Given the description of an element on the screen output the (x, y) to click on. 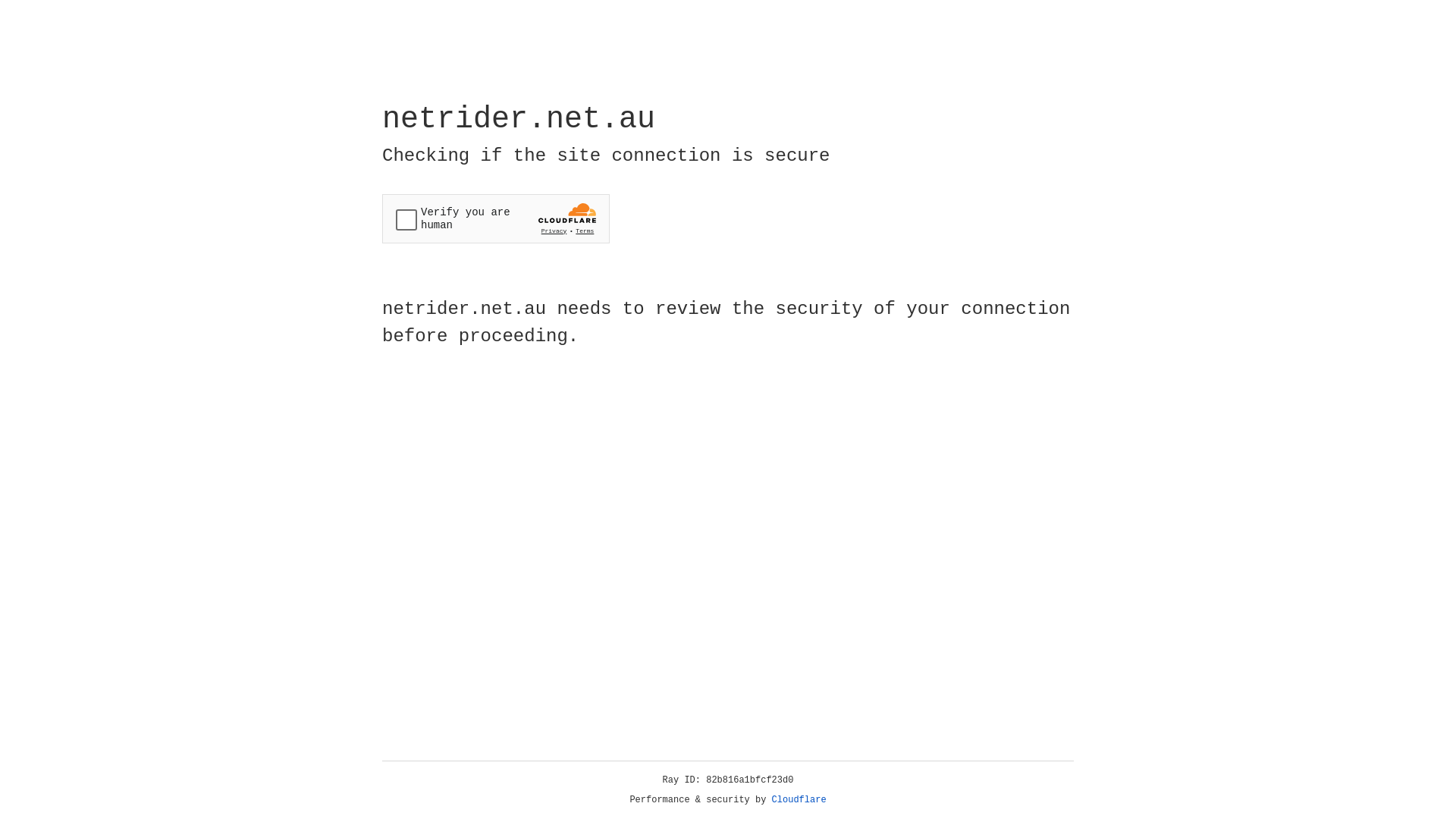
Cloudflare Element type: text (798, 799)
Widget containing a Cloudflare security challenge Element type: hover (495, 218)
